Given the description of an element on the screen output the (x, y) to click on. 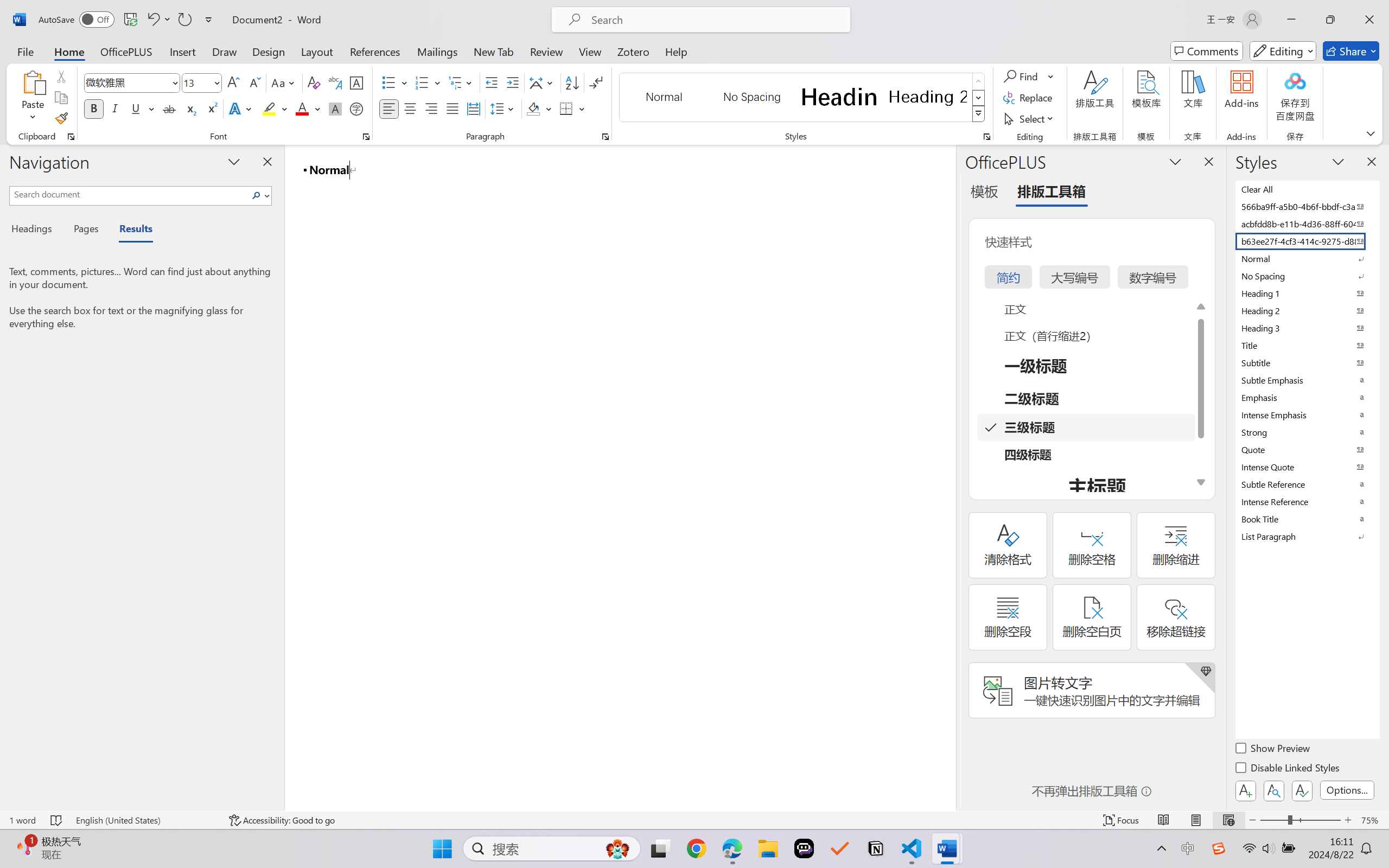
Format Painter (60, 118)
Enclose Characters... (356, 108)
Zotero (632, 51)
Shading (539, 108)
Heading 3 (1306, 327)
Line and Paragraph Spacing (503, 108)
Pages (85, 229)
Phonetic Guide... (334, 82)
